Given the description of an element on the screen output the (x, y) to click on. 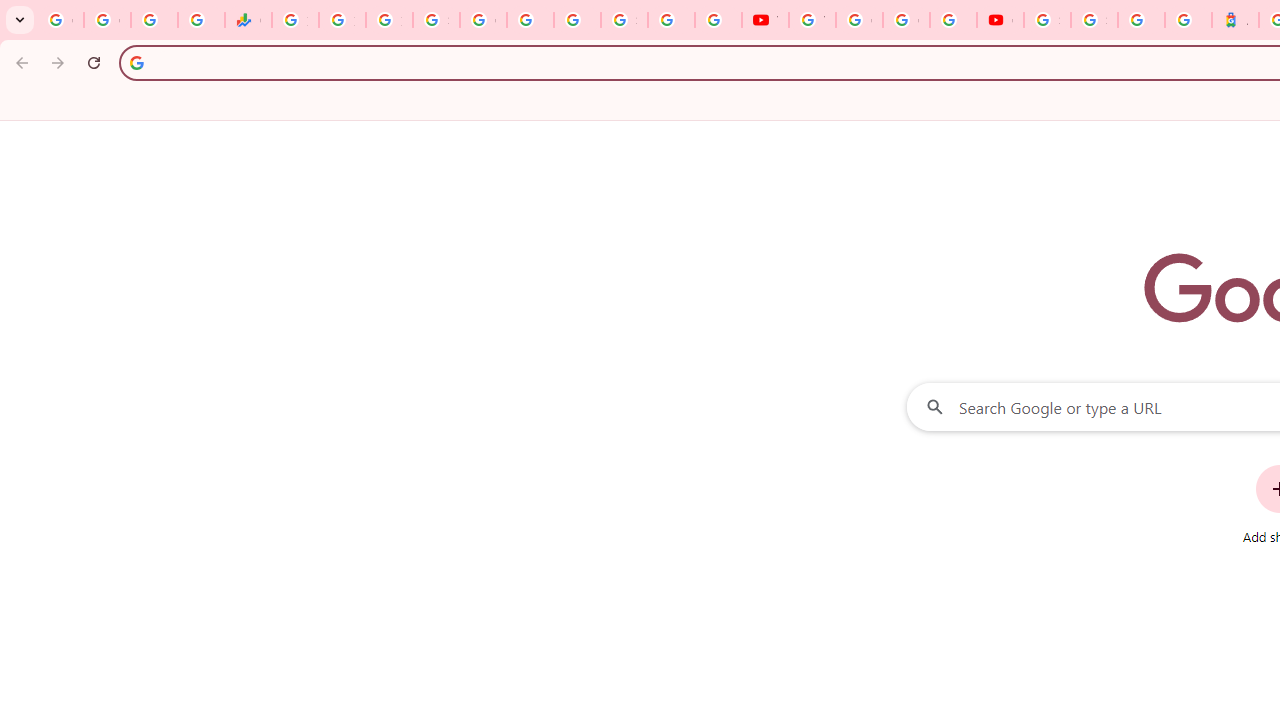
Sign in - Google Accounts (1094, 20)
